Given the description of an element on the screen output the (x, y) to click on. 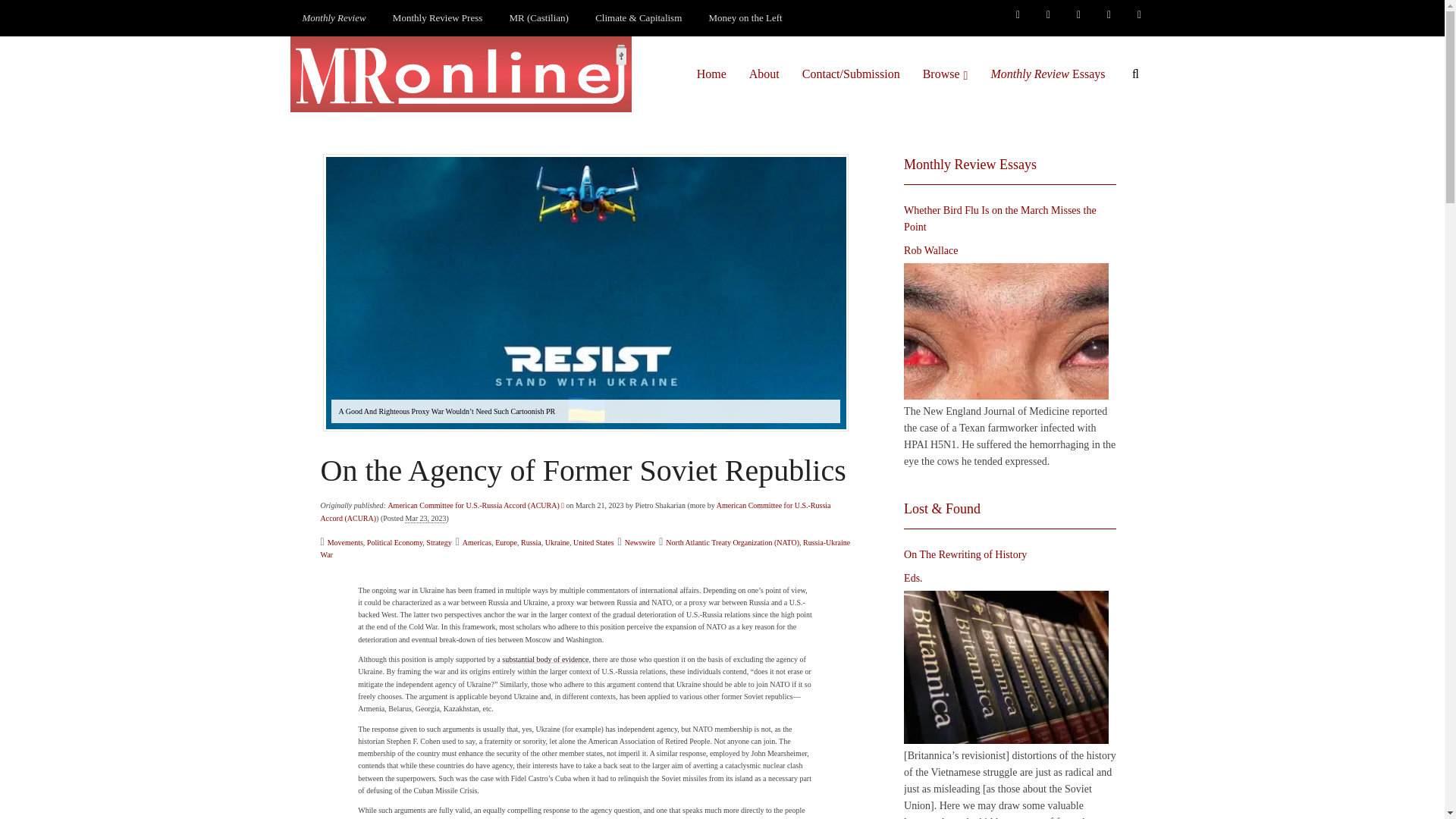
Whether Bird Flu Is on the March Misses the Point (1006, 330)
Monthly Review Press (437, 18)
Posts by Rob Wallace (931, 250)
Monthly Review Magazine (333, 18)
Money on the Left (745, 18)
Browse (945, 74)
Posts by Eds. (913, 578)
On The Rewriting of History (1006, 666)
Monthly Review (333, 18)
